Given the description of an element on the screen output the (x, y) to click on. 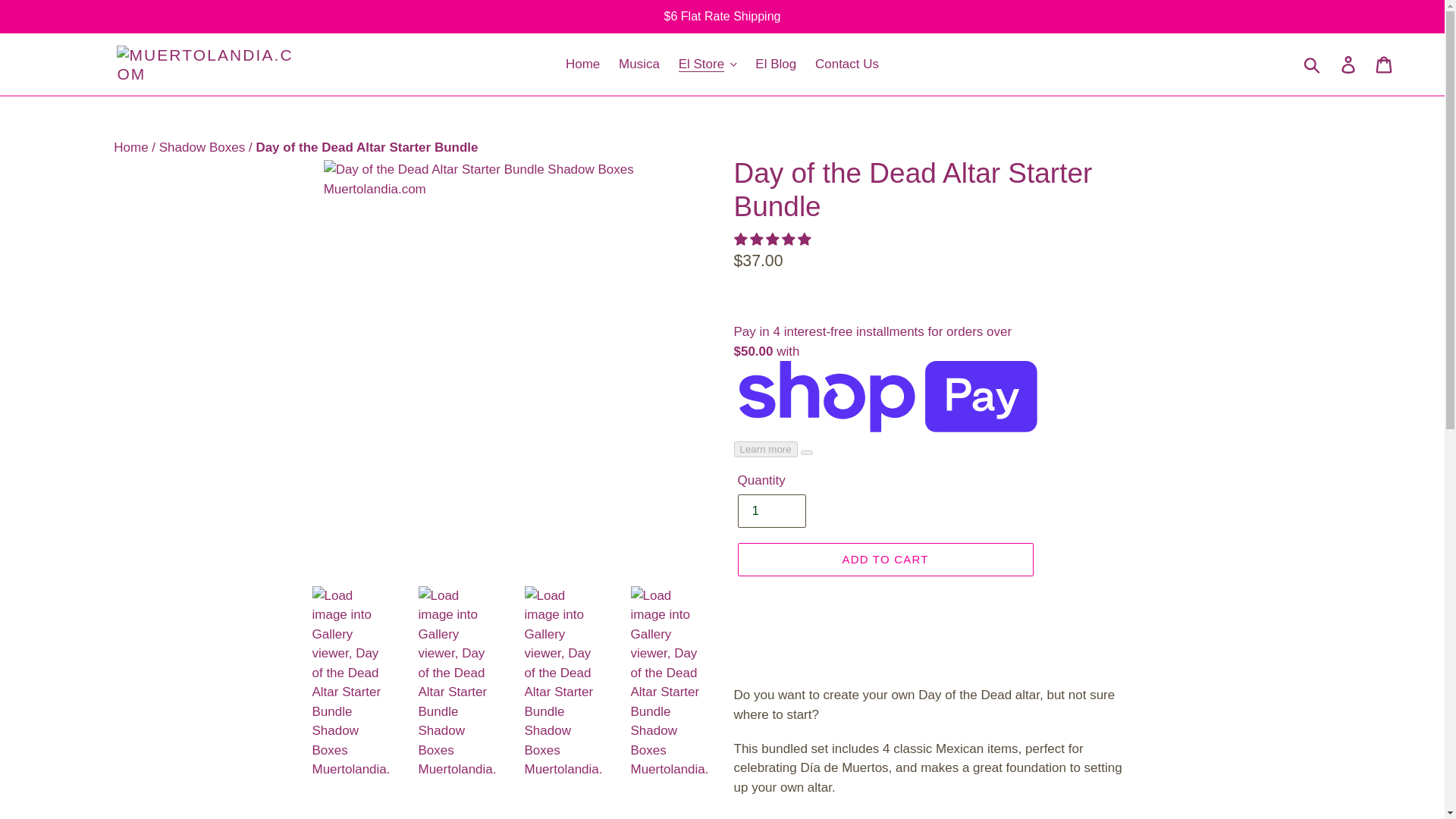
El Blog (775, 64)
Musica (638, 64)
1 (770, 510)
Submit (1313, 64)
Home (582, 64)
Contact Us (847, 64)
